Given the description of an element on the screen output the (x, y) to click on. 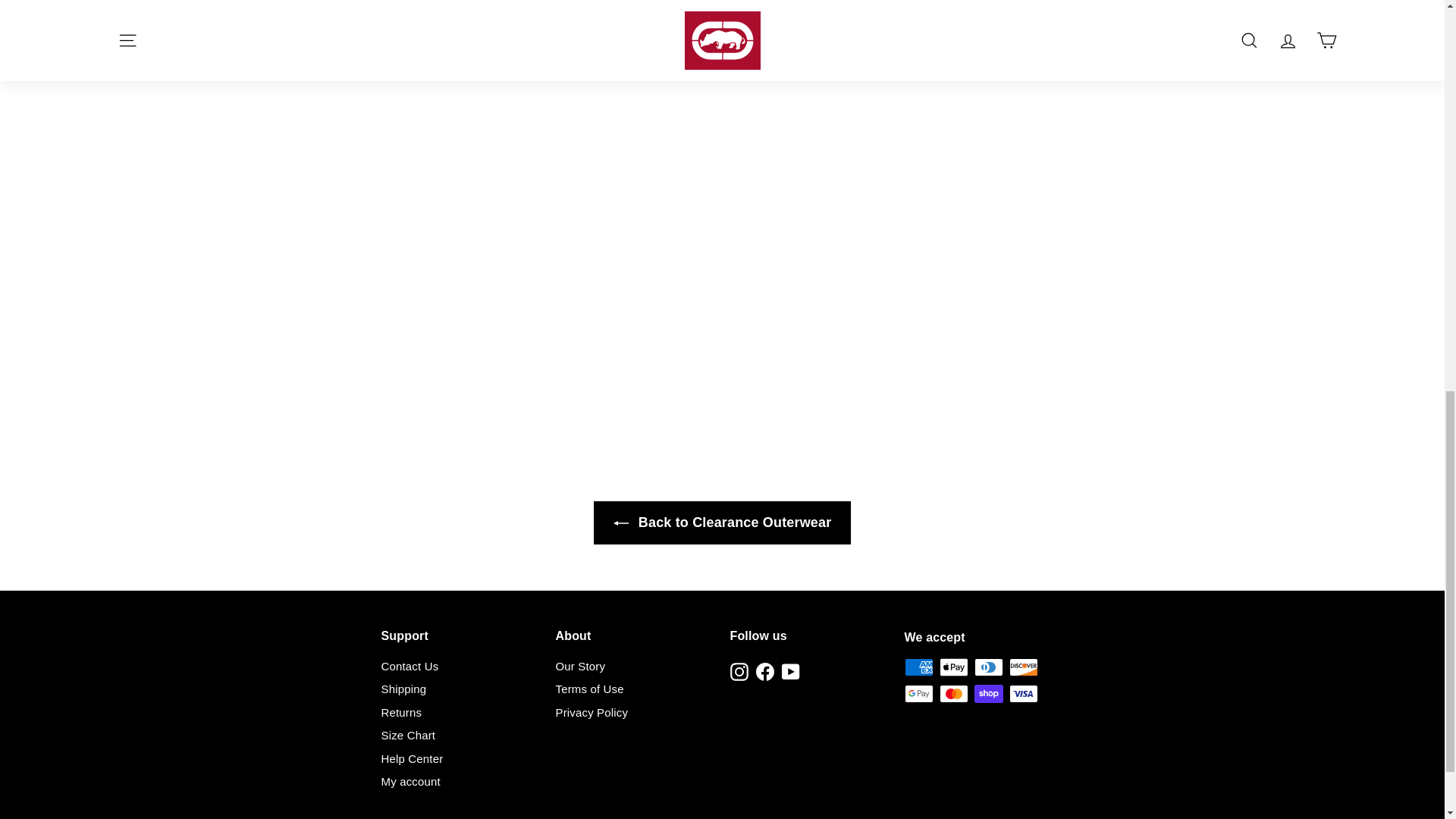
Discover (1022, 667)
Mastercard (953, 693)
Diners Club (988, 667)
Shop Pay (988, 693)
American Express (918, 667)
Apple Pay (953, 667)
ECKO UNLTD on Instagram (738, 671)
Google Pay (918, 693)
instagram (738, 671)
icon-left-arrow (620, 522)
ECKO UNLTD on Facebook (764, 671)
ECKO UNLTD on YouTube (789, 671)
